Given the description of an element on the screen output the (x, y) to click on. 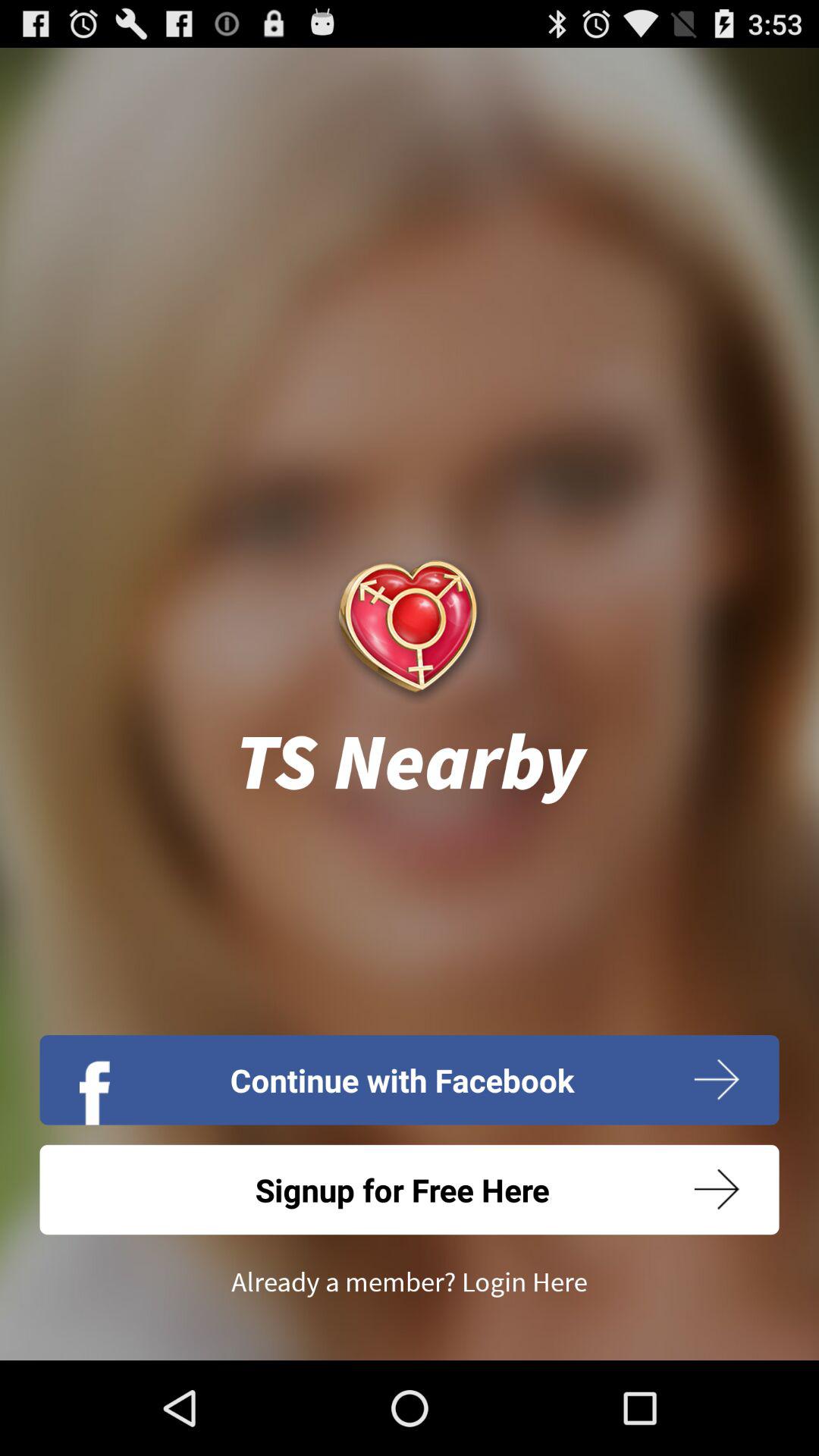
tap the icon below ts nearby icon (409, 1079)
